Given the description of an element on the screen output the (x, y) to click on. 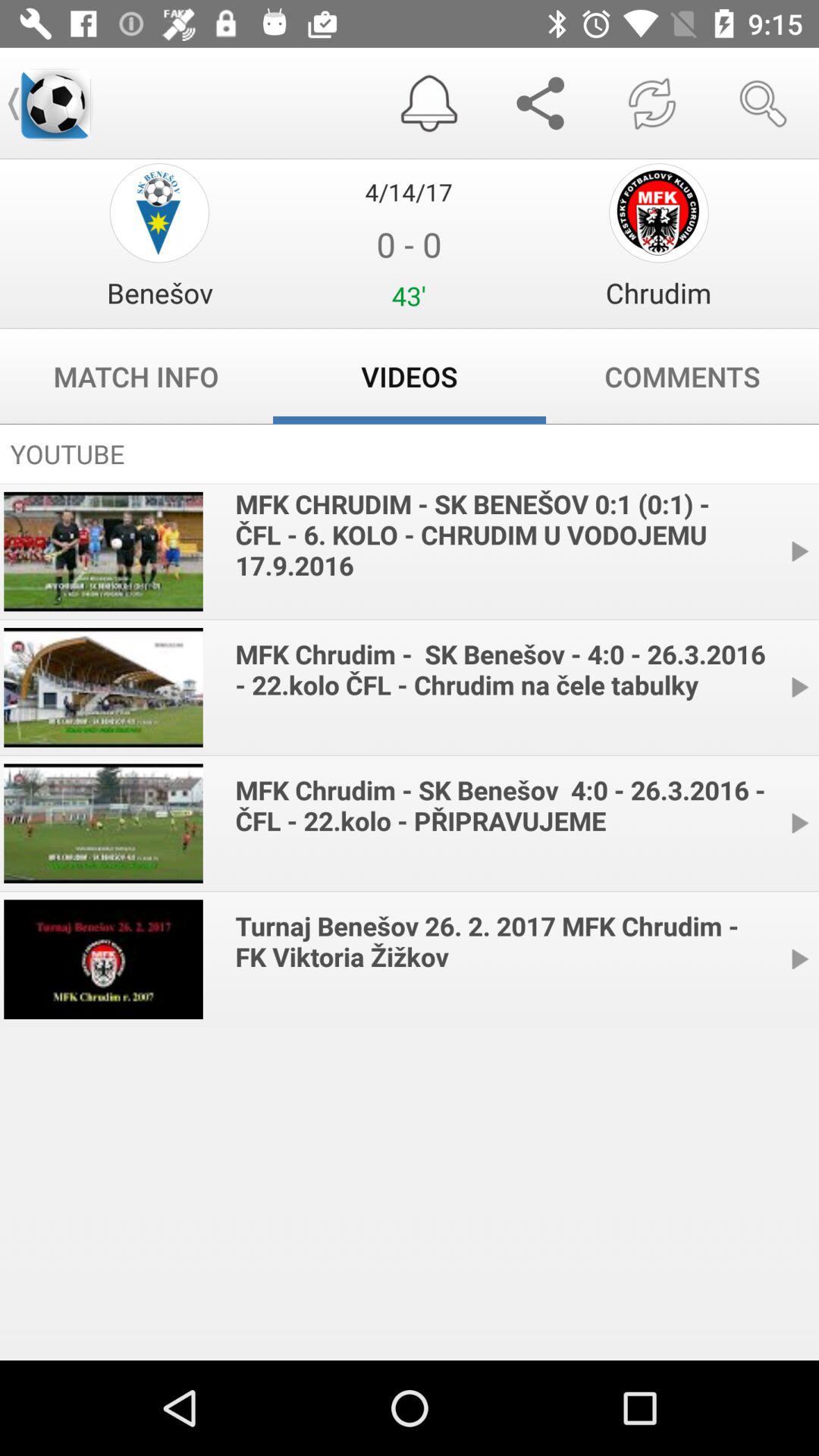
press item next to 0 - 0 (159, 292)
